Given the description of an element on the screen output the (x, y) to click on. 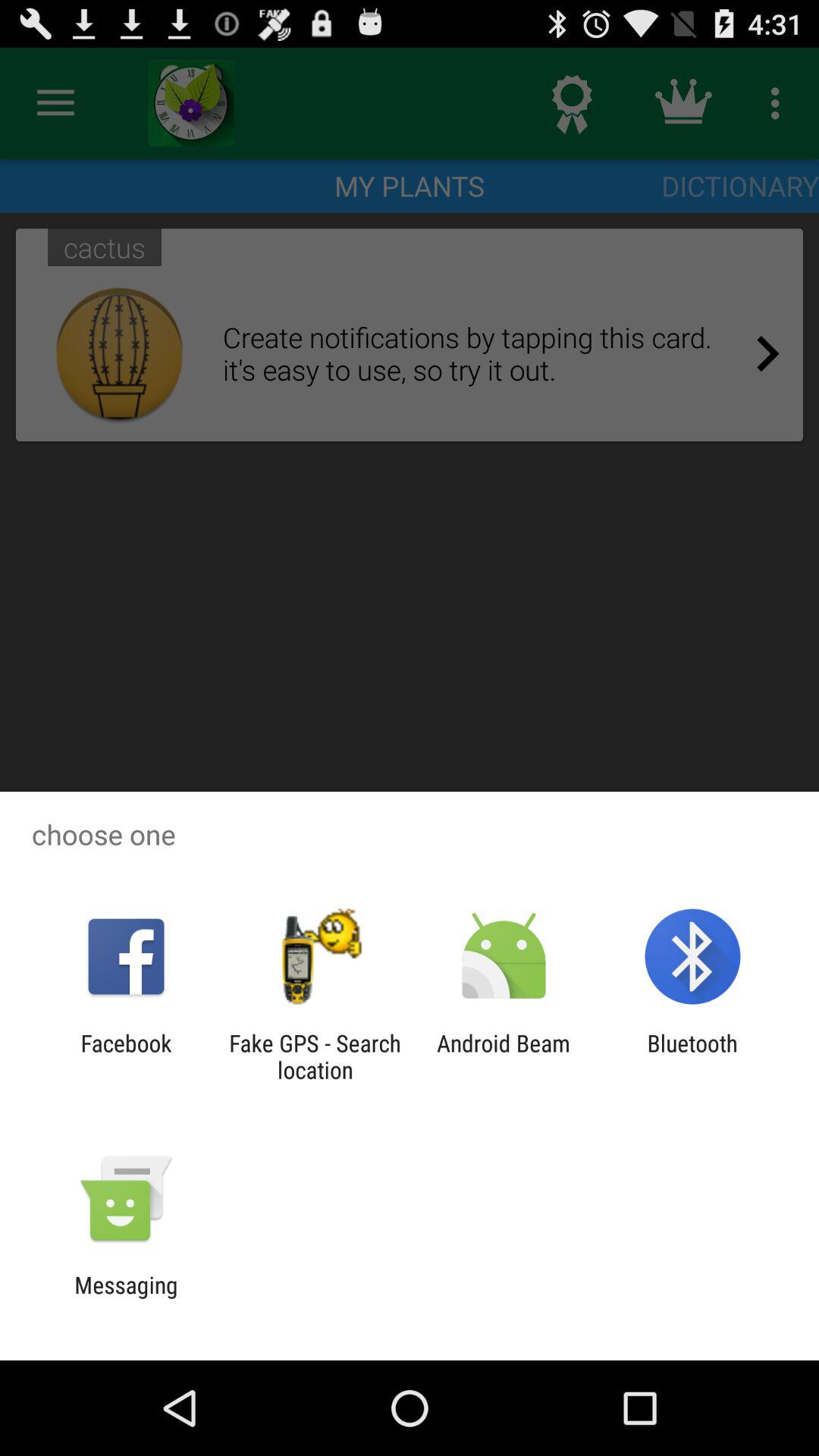
flip until android beam app (503, 1056)
